Given the description of an element on the screen output the (x, y) to click on. 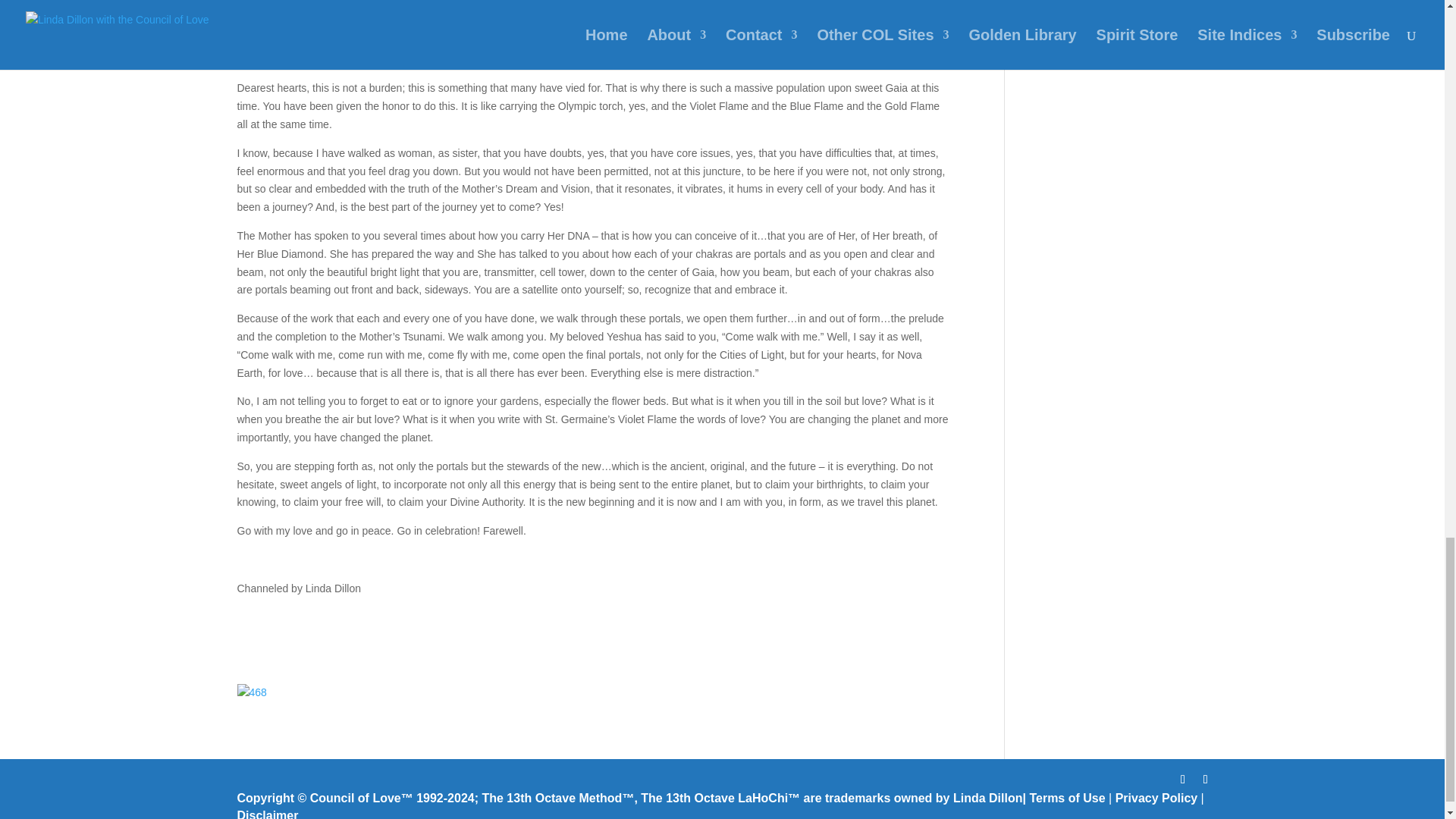
Disclaimer (266, 814)
Privacy Policy (1156, 797)
Terms of Use (1067, 797)
